Given the description of an element on the screen output the (x, y) to click on. 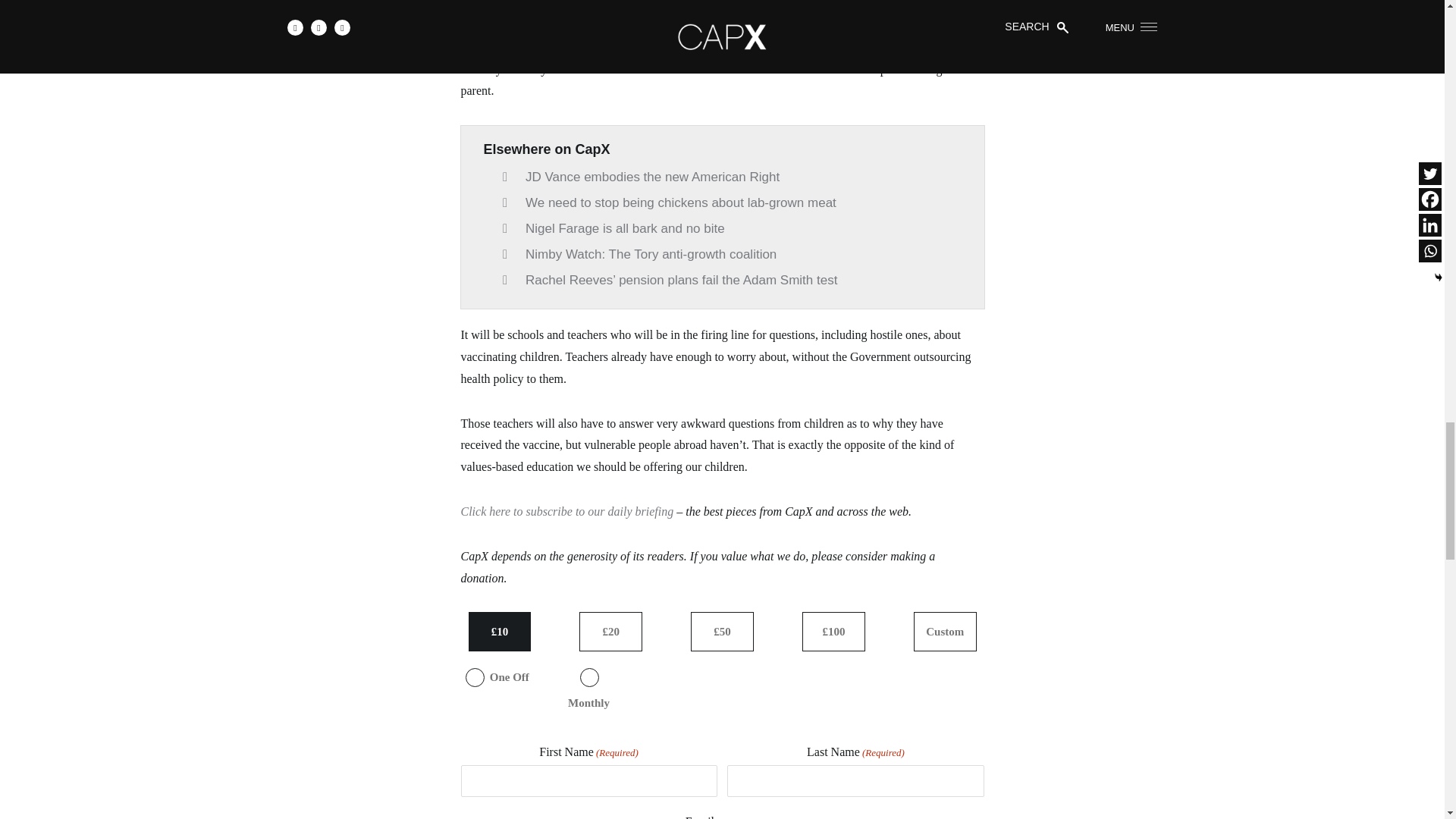
Monthly (588, 677)
One Off (474, 677)
